Given the description of an element on the screen output the (x, y) to click on. 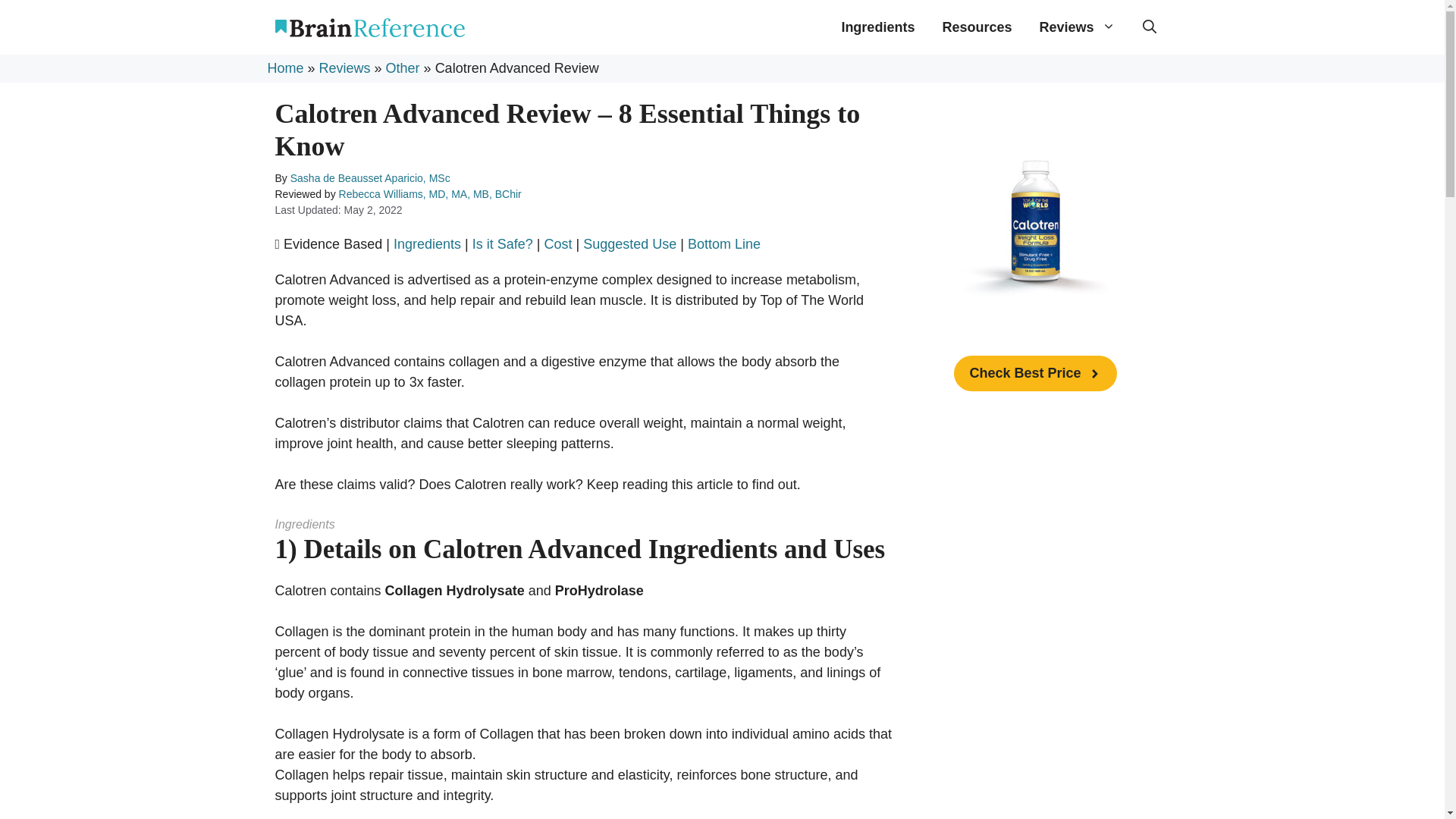
Cost (557, 243)
Home (284, 68)
Resources (976, 26)
Sasha de Beausset Aparicio, MSc (369, 177)
Is it Safe? (501, 243)
Rebecca Williams, MD, MA, MB, BChir (430, 193)
Bottom Line (723, 243)
Suggested Use (630, 243)
Reviews (344, 68)
Ingredients (877, 26)
Ingredients (427, 243)
Other (402, 68)
Reviews (1076, 26)
